Given the description of an element on the screen output the (x, y) to click on. 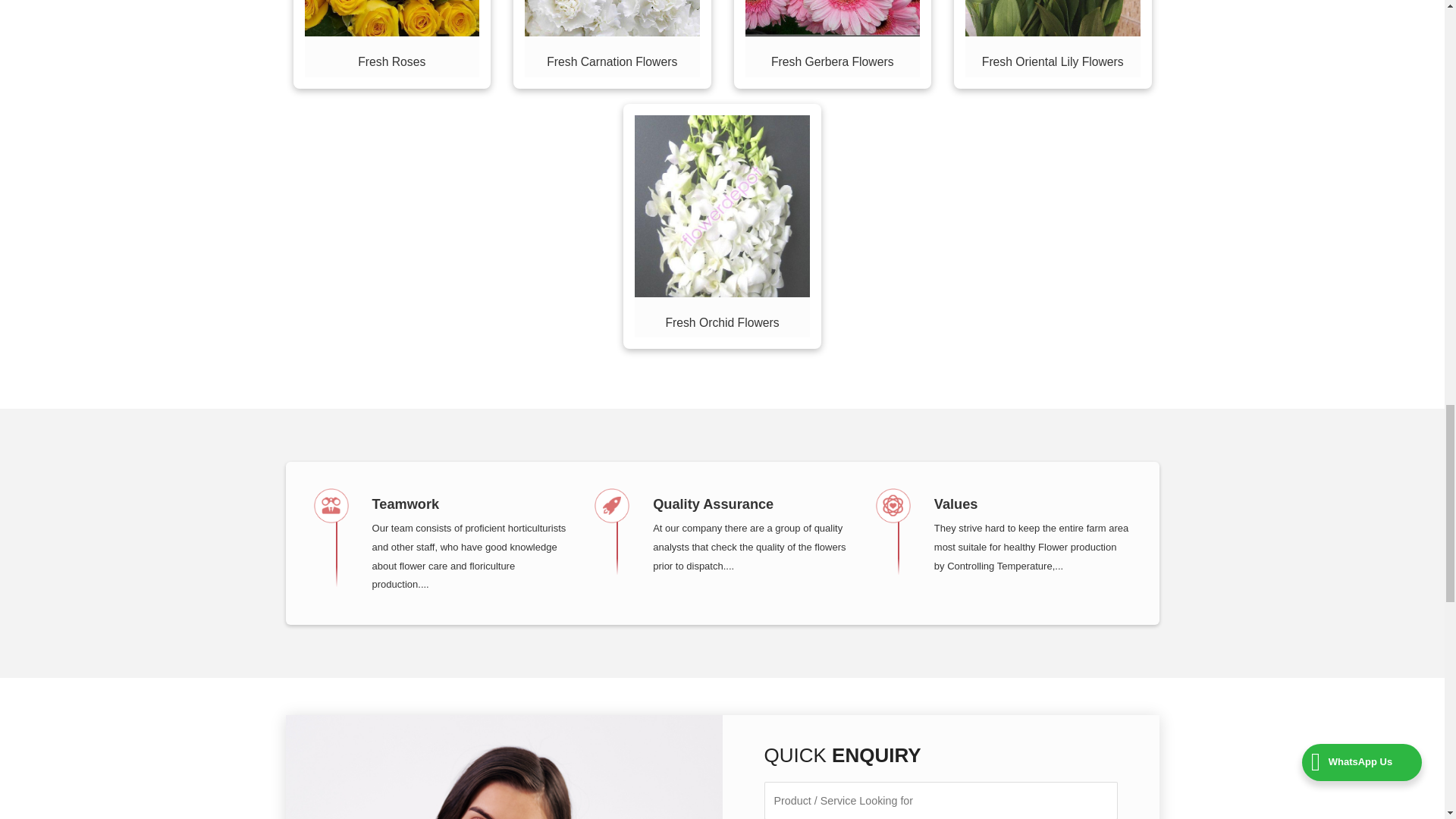
Fresh Carnation Flowers (612, 61)
Fresh Gerbera Flowers (832, 61)
Fresh Oriental Lily Flowers (1052, 61)
Fresh Orchid Flowers (721, 322)
Fresh Roses (391, 61)
